Given the description of an element on the screen output the (x, y) to click on. 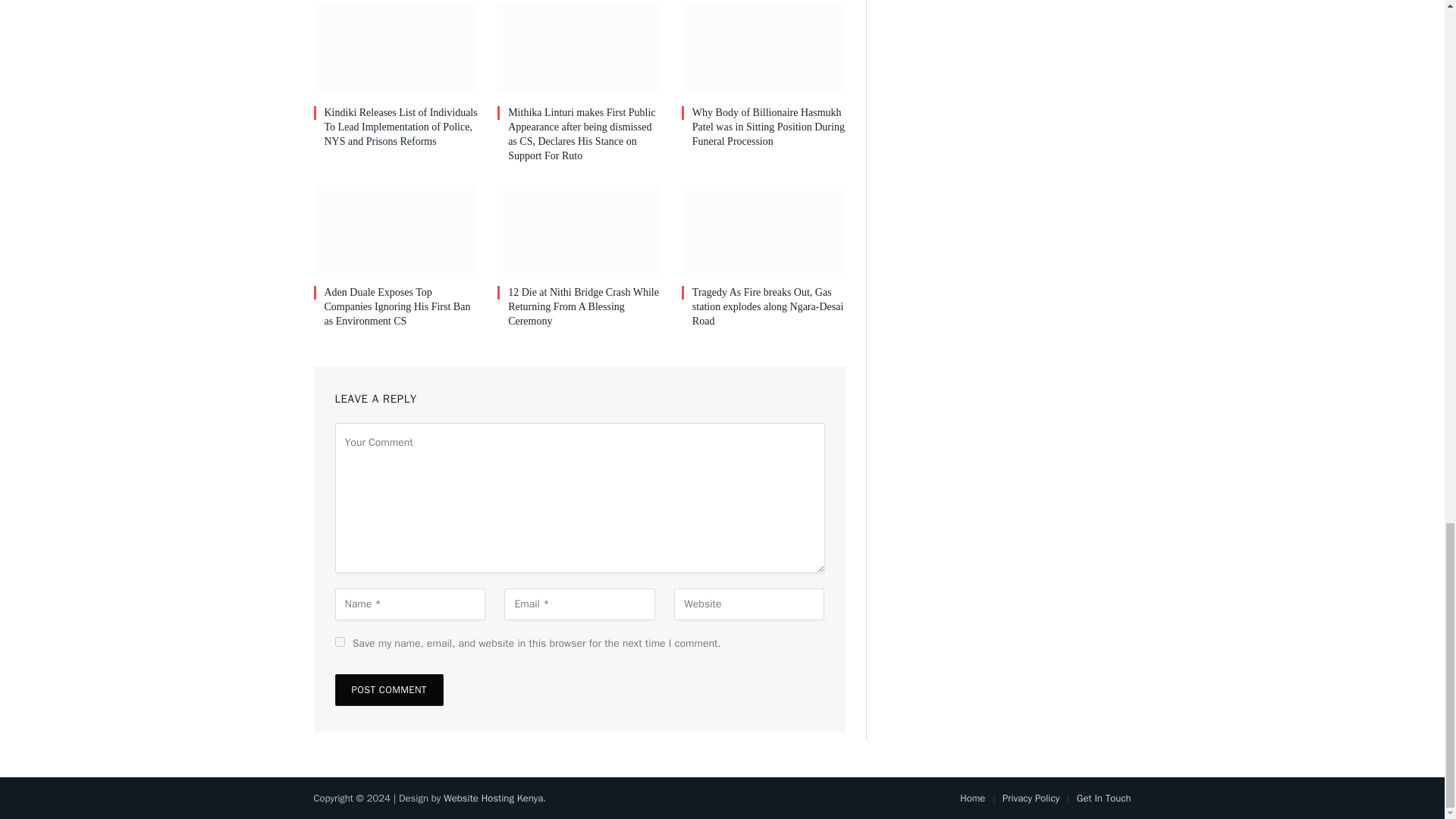
yes (339, 642)
Post Comment (389, 689)
